Given the description of an element on the screen output the (x, y) to click on. 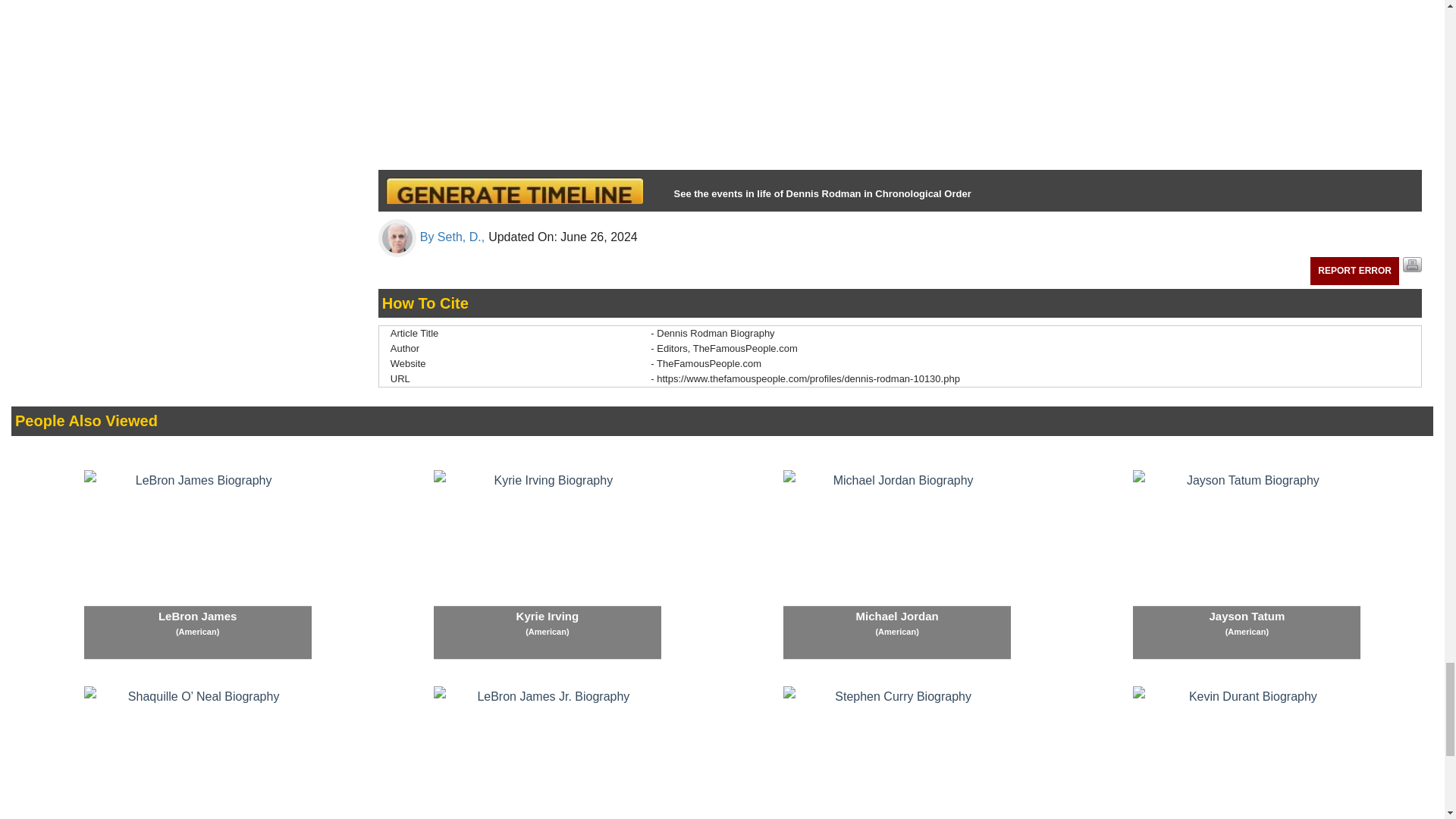
Michael Jordan (896, 565)
Kyrie Irving (547, 565)
Jayson Tatum (1245, 565)
Stephen Curry (896, 752)
LeBron James Jr. (547, 752)
LeBron James (197, 565)
Kevin Durant (1245, 752)
